Given the description of an element on the screen output the (x, y) to click on. 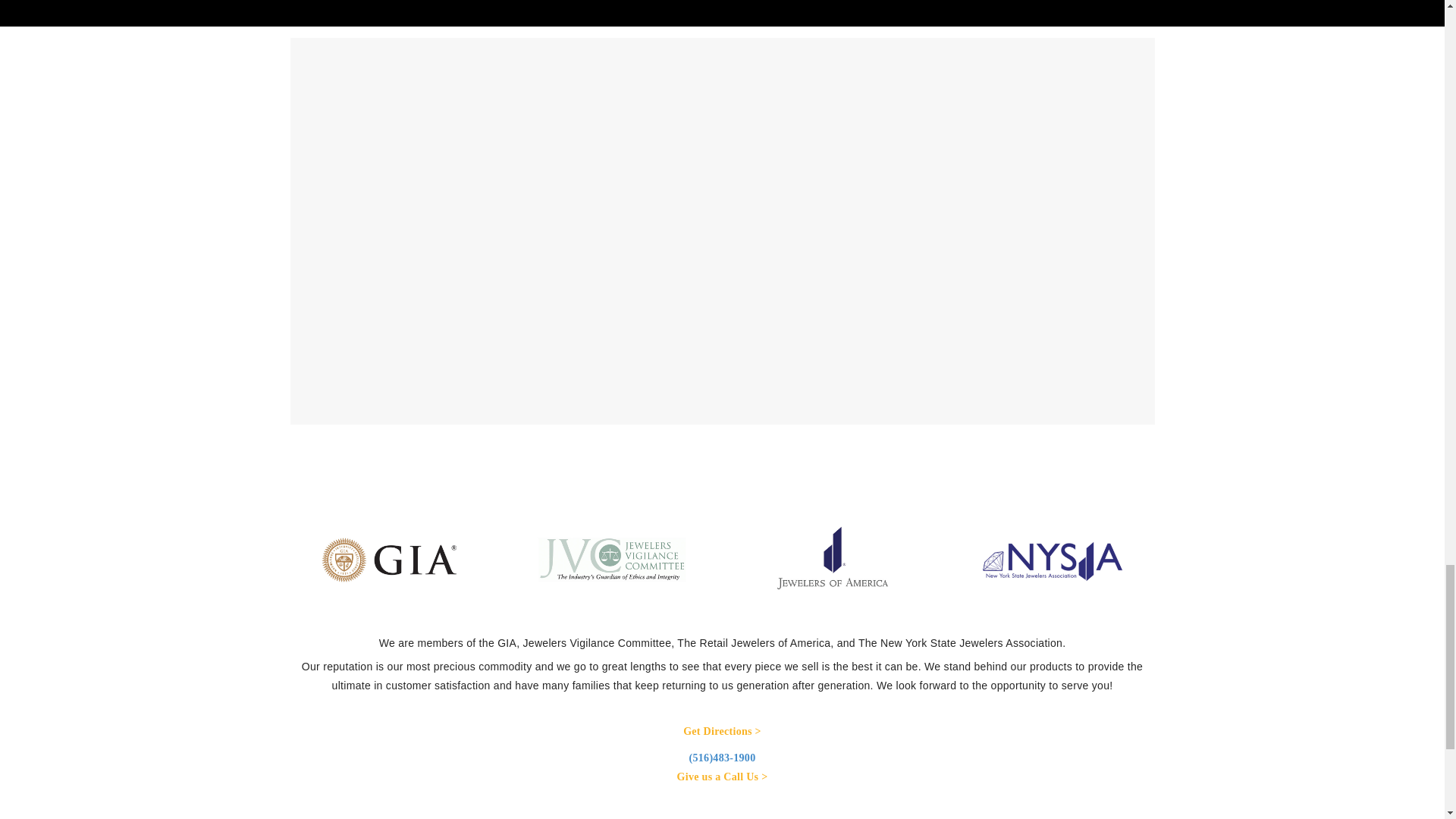
Nancy Stile (601, 295)
Evelyn Viegas (601, 537)
Rosa Adipietro (601, 71)
